Given the description of an element on the screen output the (x, y) to click on. 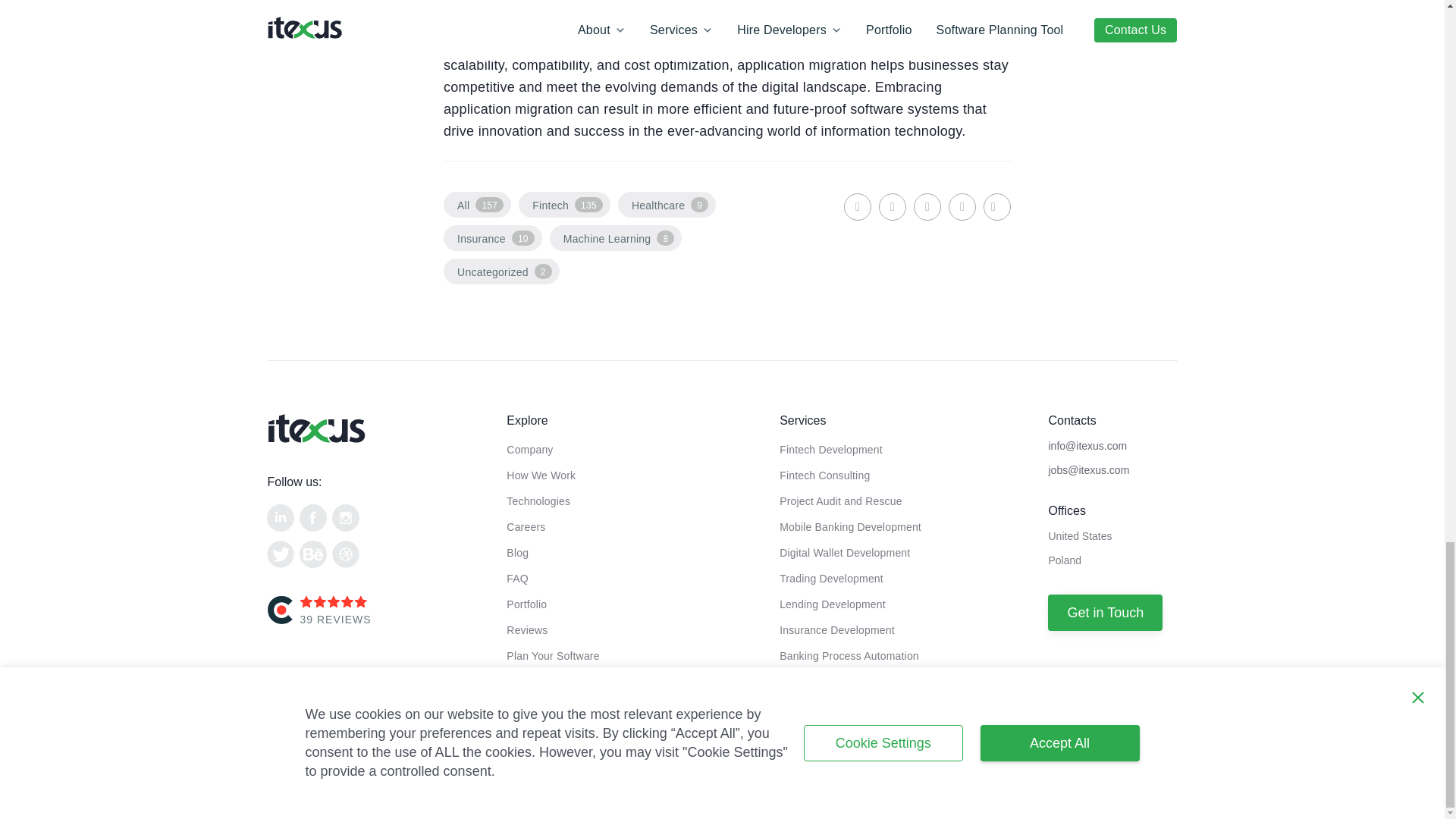
Share in Twitter (927, 206)
Share in Reddit (962, 206)
Share in Linkedin (857, 206)
Share in Facebook (892, 206)
Copy to Clipboard (997, 206)
